Given the description of an element on the screen output the (x, y) to click on. 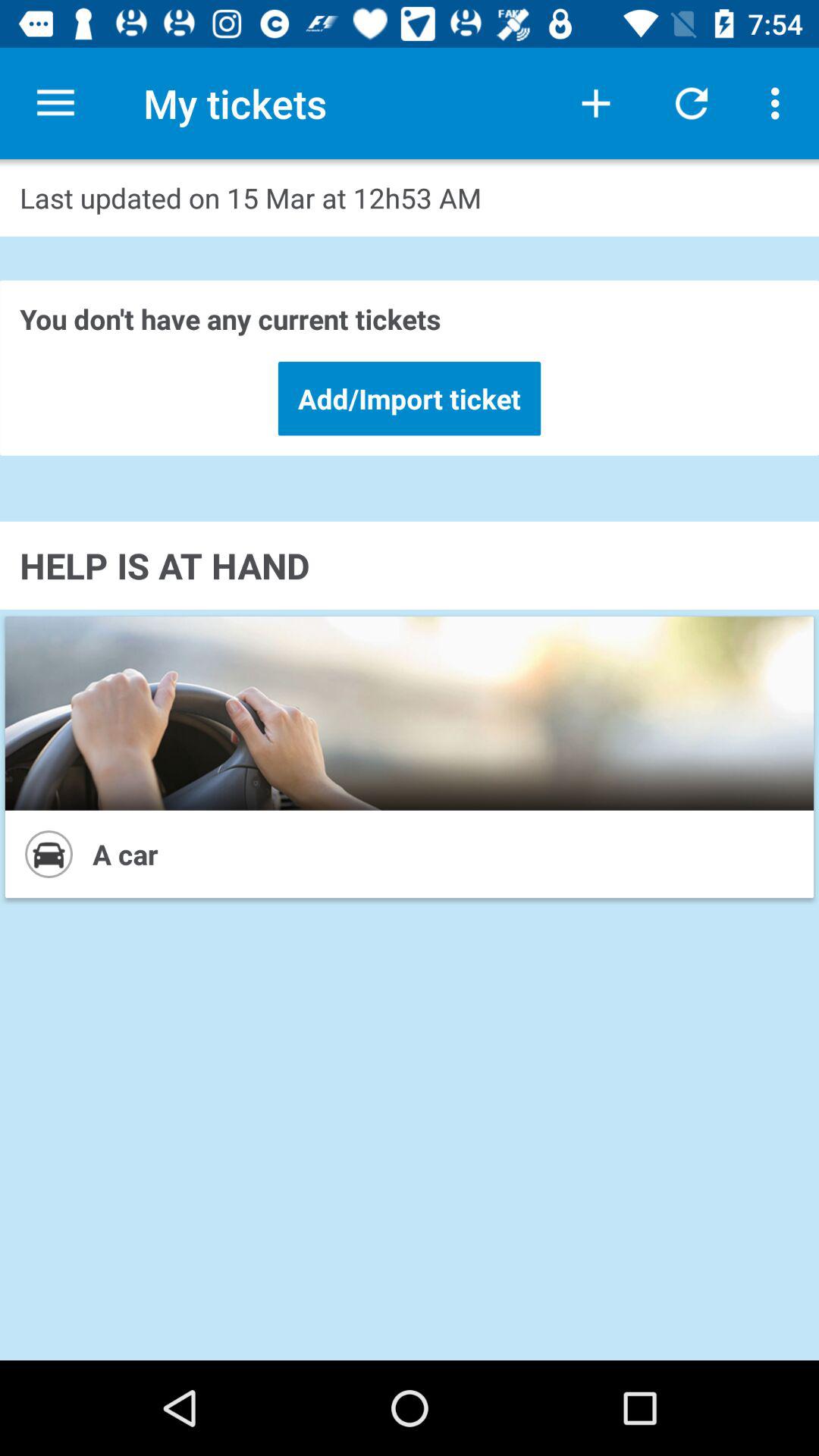
turn off the item below you don t item (409, 398)
